Given the description of an element on the screen output the (x, y) to click on. 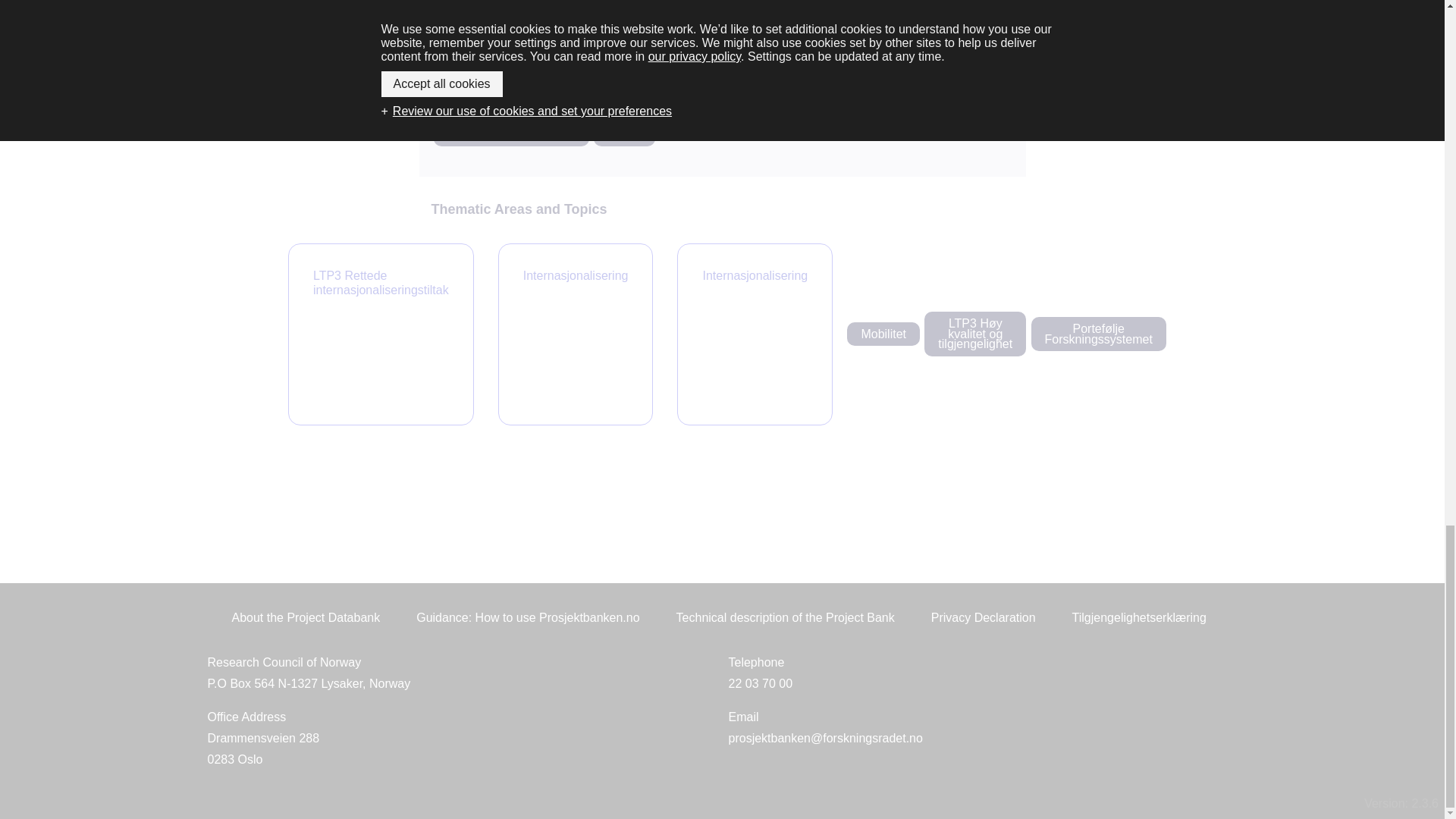
Privacy Declaration (983, 617)
Ukjent (624, 134)
Guidance: How to use Prosjektbanken.no (527, 617)
LTP3 Rettede internasjonaliseringstiltak (381, 334)
About the Project Databank (306, 617)
Technical description of the Project Bank (721, 12)
Kunnskapsdepartement (785, 617)
Mobilitet (511, 134)
